Given the description of an element on the screen output the (x, y) to click on. 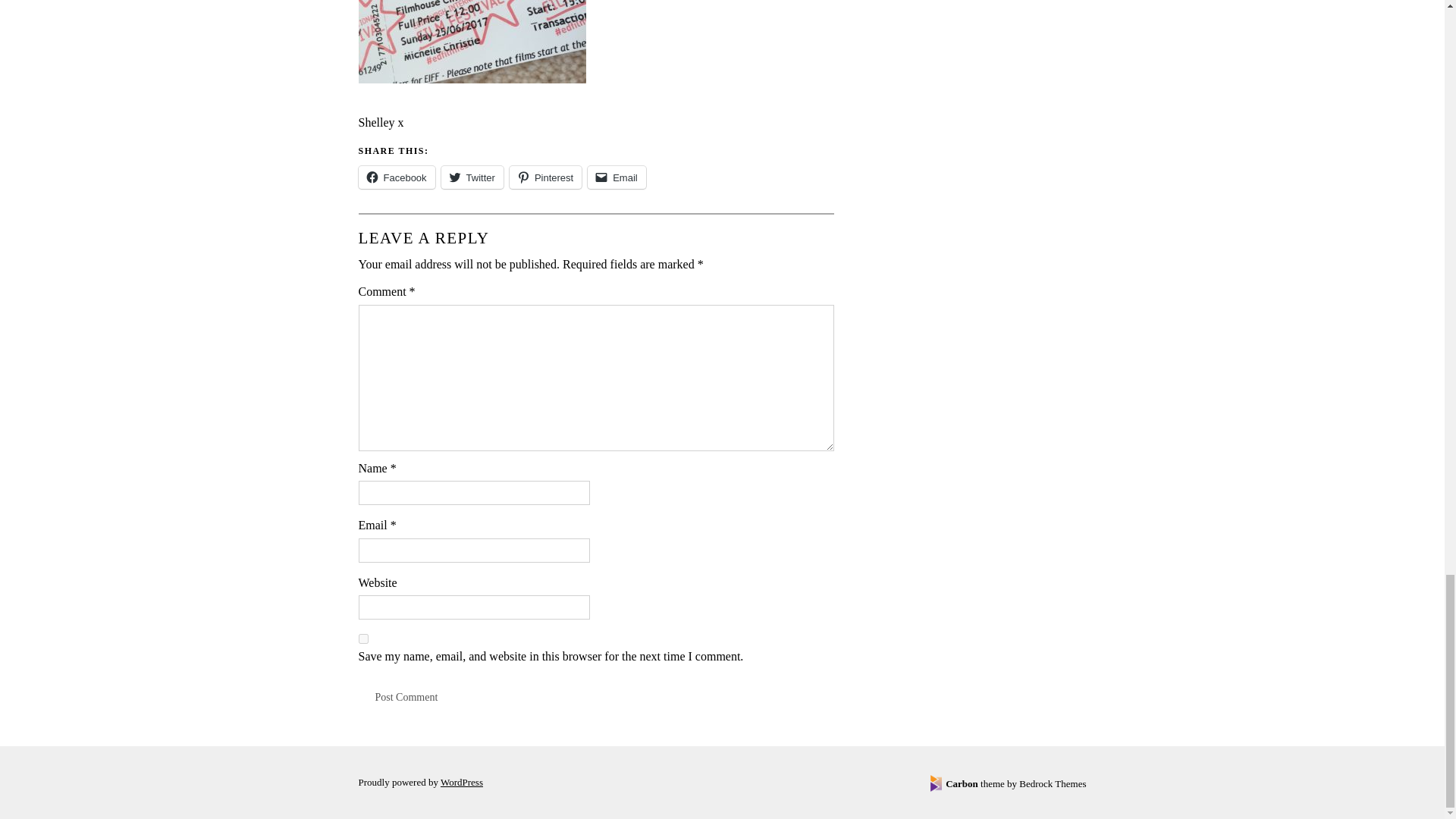
Email (617, 177)
Click to share on Pinterest (544, 177)
Post Comment (406, 697)
Twitter (472, 177)
Post Comment (406, 697)
yes (363, 638)
Pinterest (544, 177)
Opens in new window (1008, 783)
Click to email a link to a friend (617, 177)
Facebook (395, 177)
Click to share on Facebook (395, 177)
Click to share on Twitter (472, 177)
Opens in new window (462, 781)
